Given the description of an element on the screen output the (x, y) to click on. 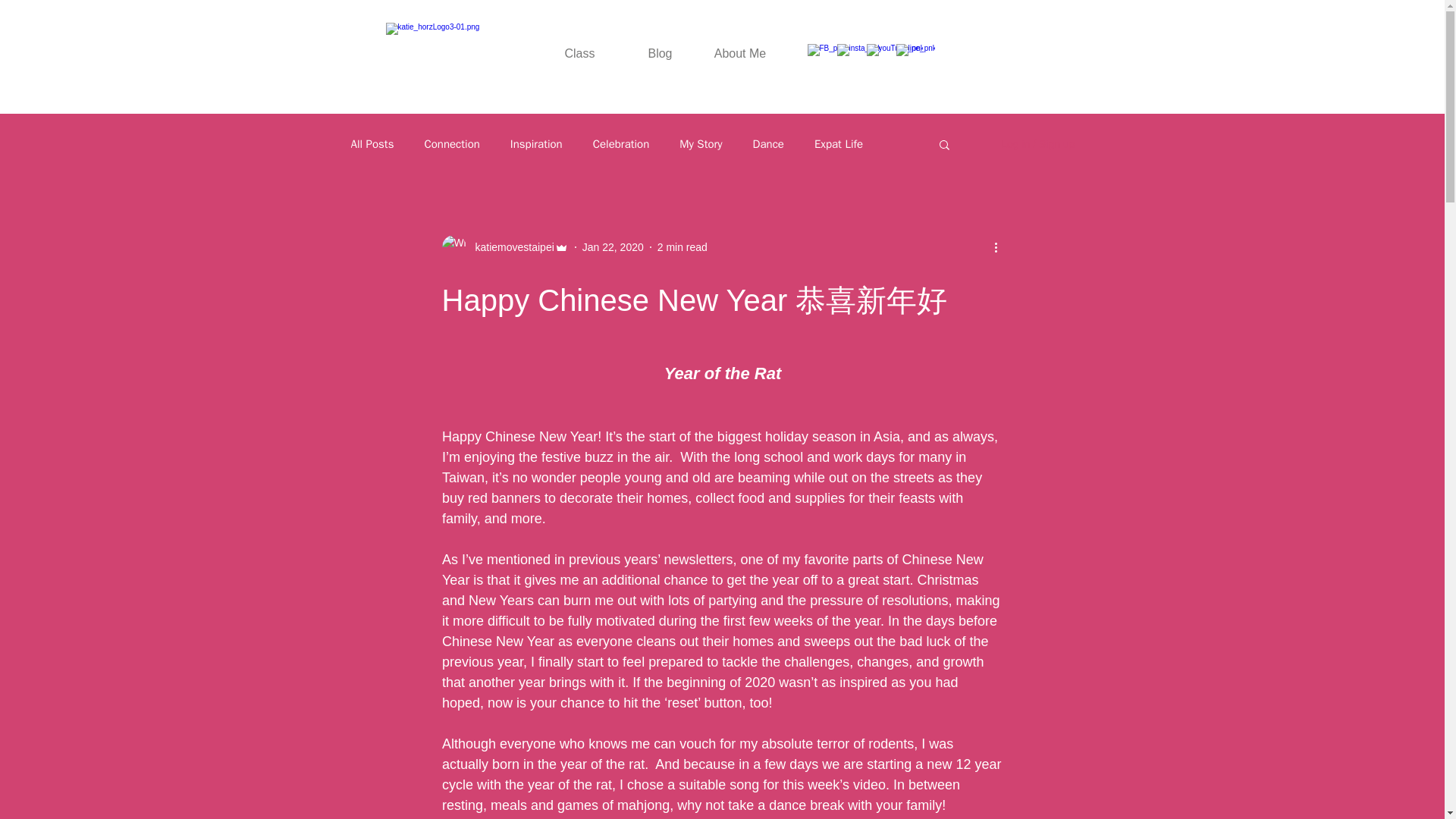
Connection (451, 143)
2 min read (682, 246)
Expat Life (838, 143)
Inspiration (536, 143)
About Me (740, 53)
Celebration (620, 143)
My Story (700, 143)
All Posts (371, 143)
Jan 22, 2020 (612, 246)
Blog (660, 53)
katiemovestaipei (509, 247)
Dance (768, 143)
